Given the description of an element on the screen output the (x, y) to click on. 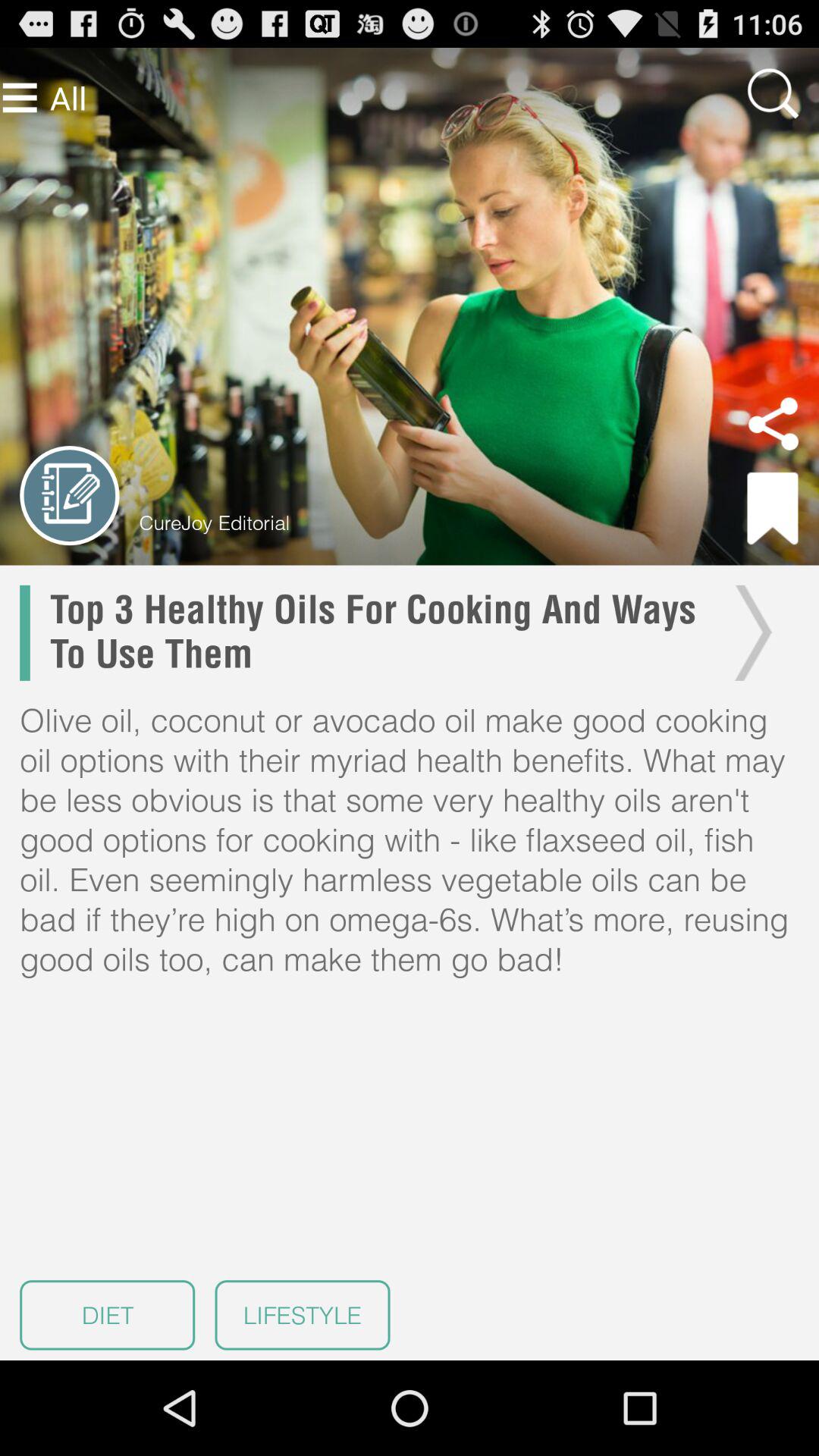
press item to the right of the all icon (773, 93)
